Given the description of an element on the screen output the (x, y) to click on. 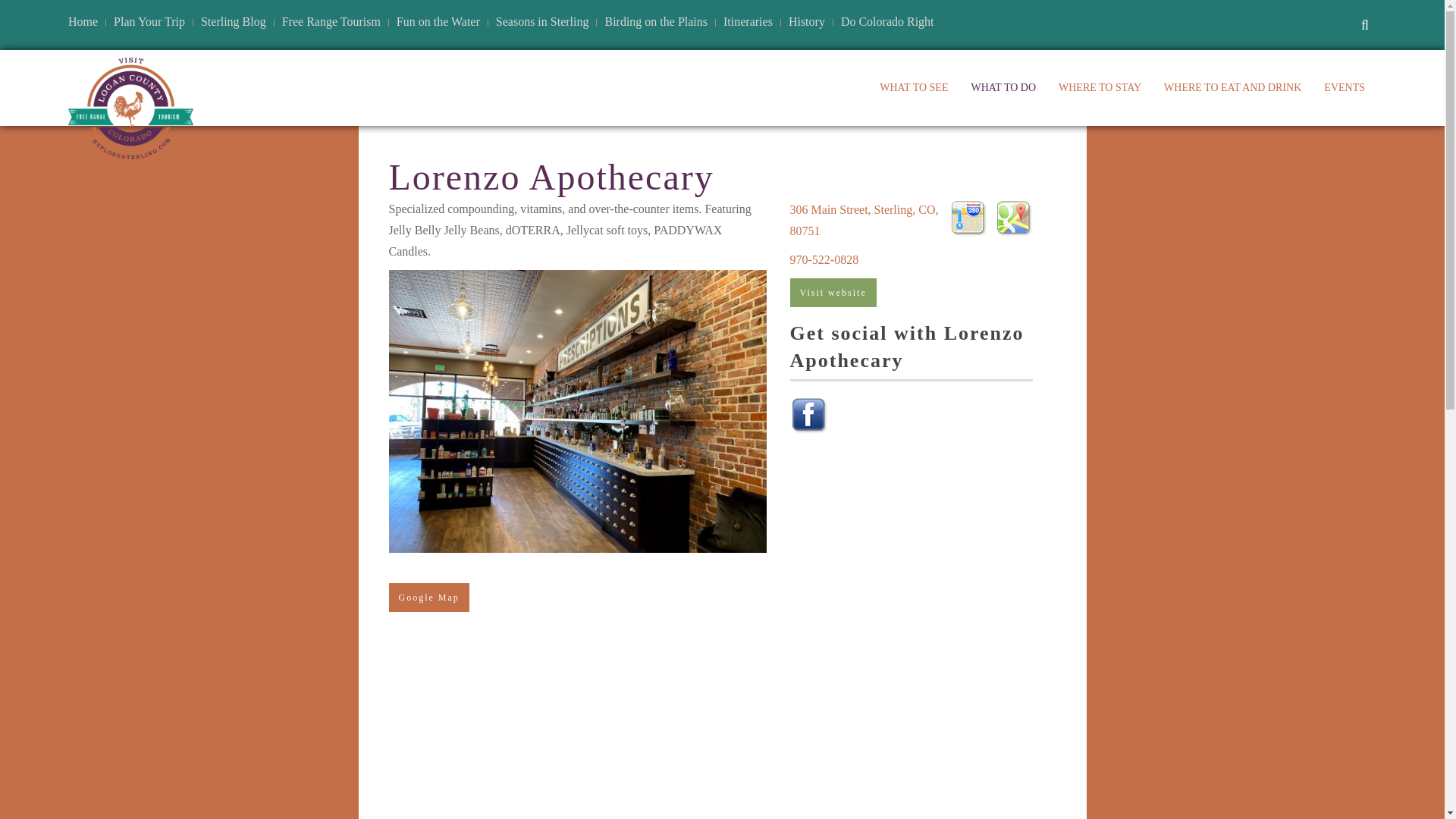
History (807, 21)
WHAT TO SEE (913, 87)
970-522-0828 (824, 259)
Visit website (833, 292)
Google Map (428, 597)
WHAT TO DO (1002, 87)
Seasons in Sterling (542, 21)
Fun on the Water (438, 21)
WHERE TO STAY (1099, 87)
WHERE TO EAT AND DRINK (1233, 87)
Itineraries (748, 21)
Free Range Tourism (331, 21)
Do Colorado Right (887, 21)
306 Main Street, Sterling, CO, 80751 (864, 220)
Home (82, 21)
